Given the description of an element on the screen output the (x, y) to click on. 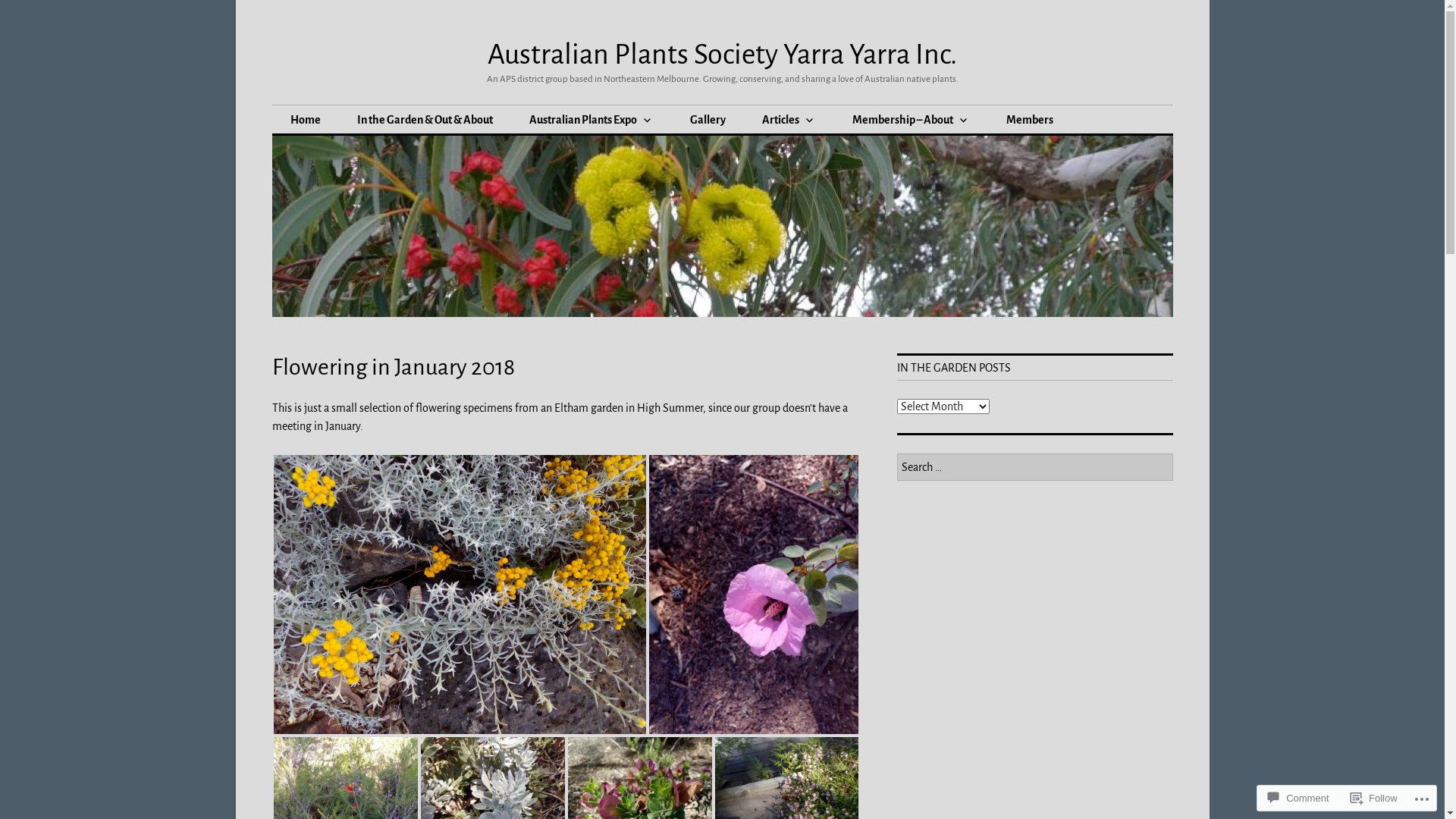
Home Element type: text (304, 119)
In the Garden & Out & About Element type: text (424, 119)
Comment Element type: text (1297, 797)
Articles Element type: text (788, 119)
Chrysocephalum semipapposum Element type: hover (459, 594)
Australian Plants Society Yarra Yarra Inc. Element type: text (722, 54)
Gallery Element type: text (707, 119)
Search Element type: text (9, 4)
Australian Plants Expo Element type: text (591, 119)
Follow Element type: text (1373, 797)
Gossypium sturtianum (Sturt's Desert Rose) Element type: hover (753, 594)
Members Element type: text (1028, 119)
